Given the description of an element on the screen output the (x, y) to click on. 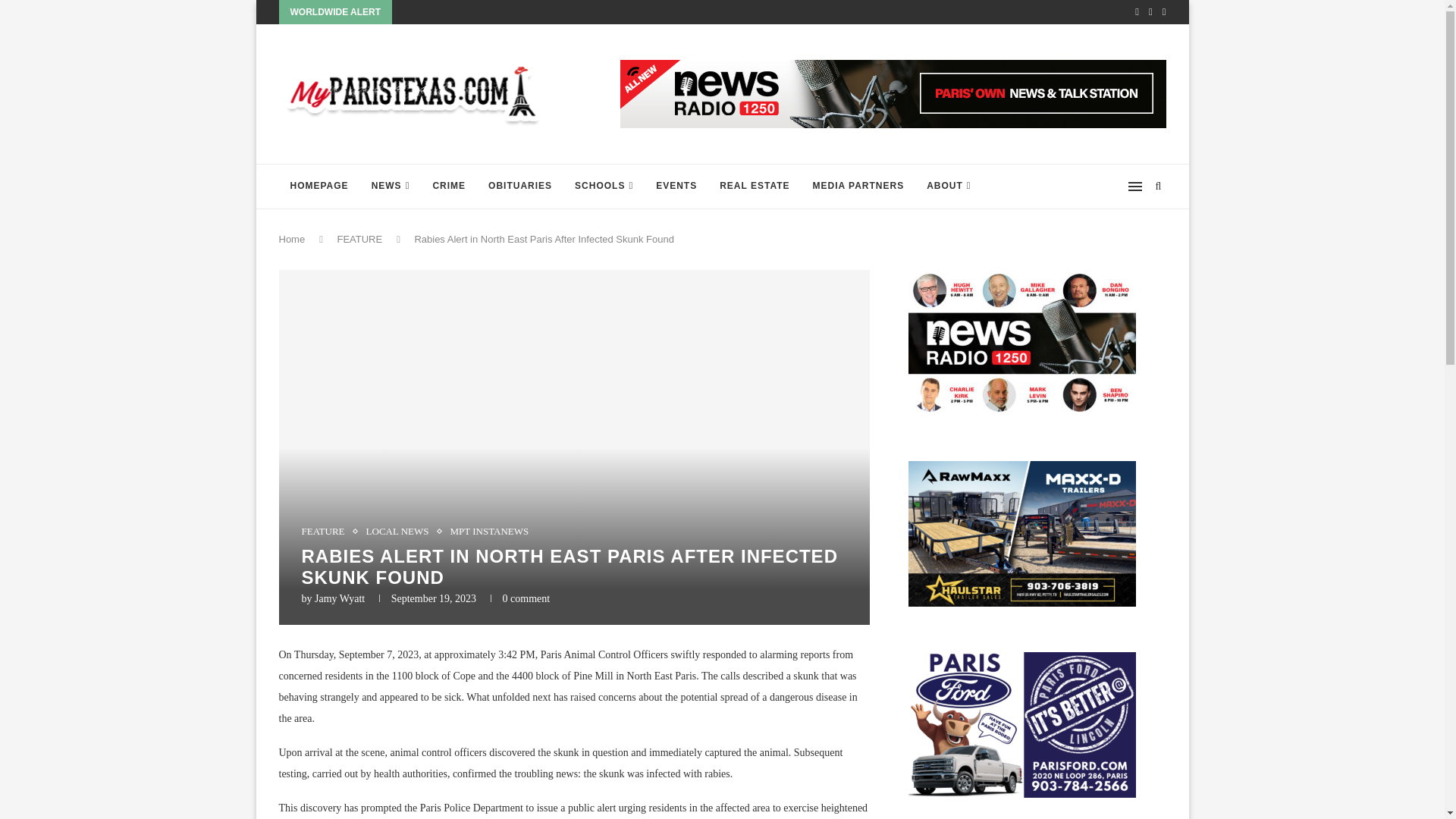
NEWS (390, 186)
HOMEPAGE (319, 186)
